Given the description of an element on the screen output the (x, y) to click on. 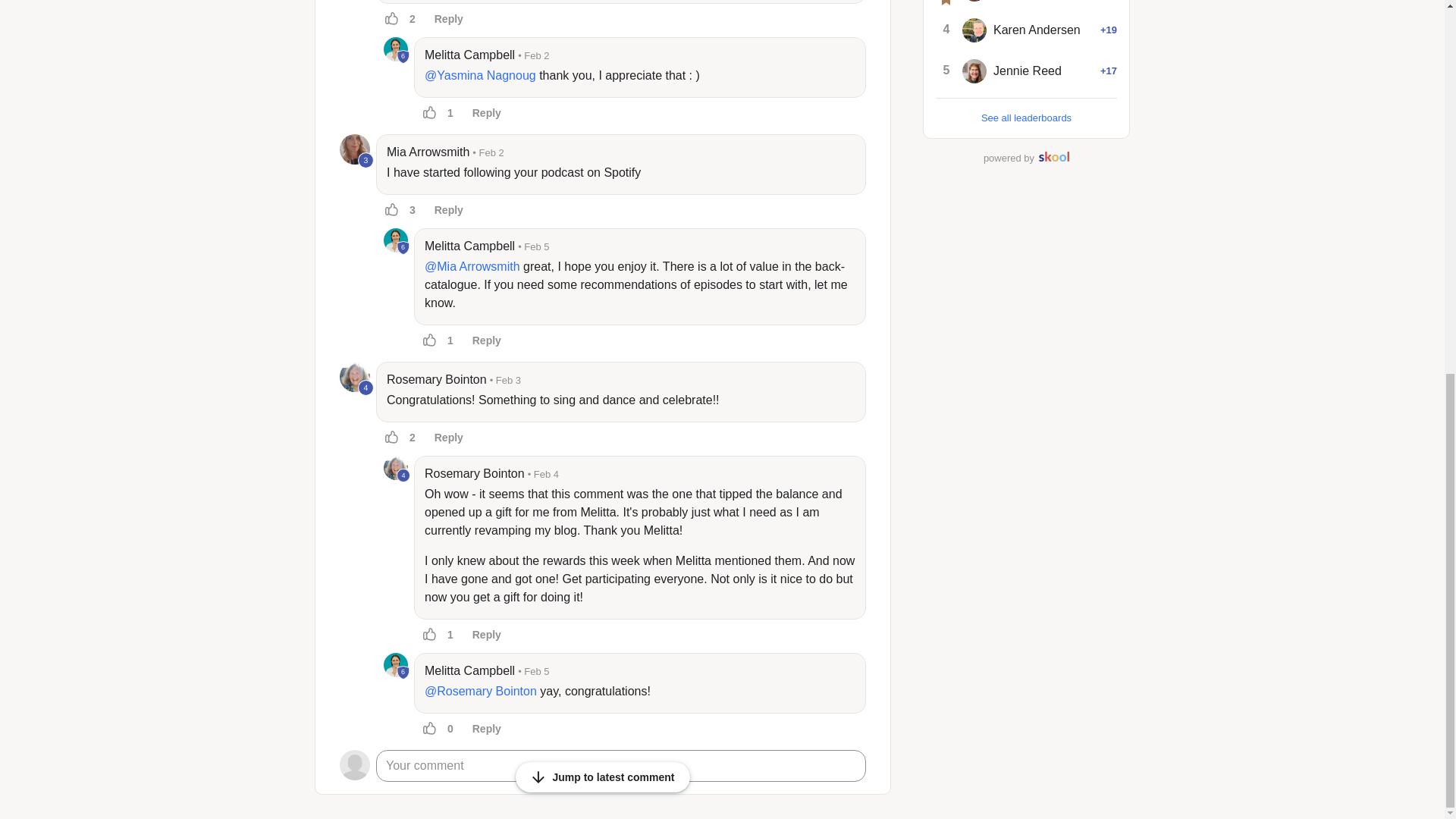
Melitta Campbell (395, 240)
4 (354, 376)
6 (395, 240)
3 (366, 160)
Reply (487, 340)
Reply (449, 209)
4 (403, 475)
Melitta Campbell (470, 246)
6 (403, 247)
Reply (487, 112)
Rosemary Bointon (395, 467)
6 (403, 672)
Mia Arrowsmith (427, 152)
Rosemary Bointon (436, 380)
6 (403, 56)
